Given the description of an element on the screen output the (x, y) to click on. 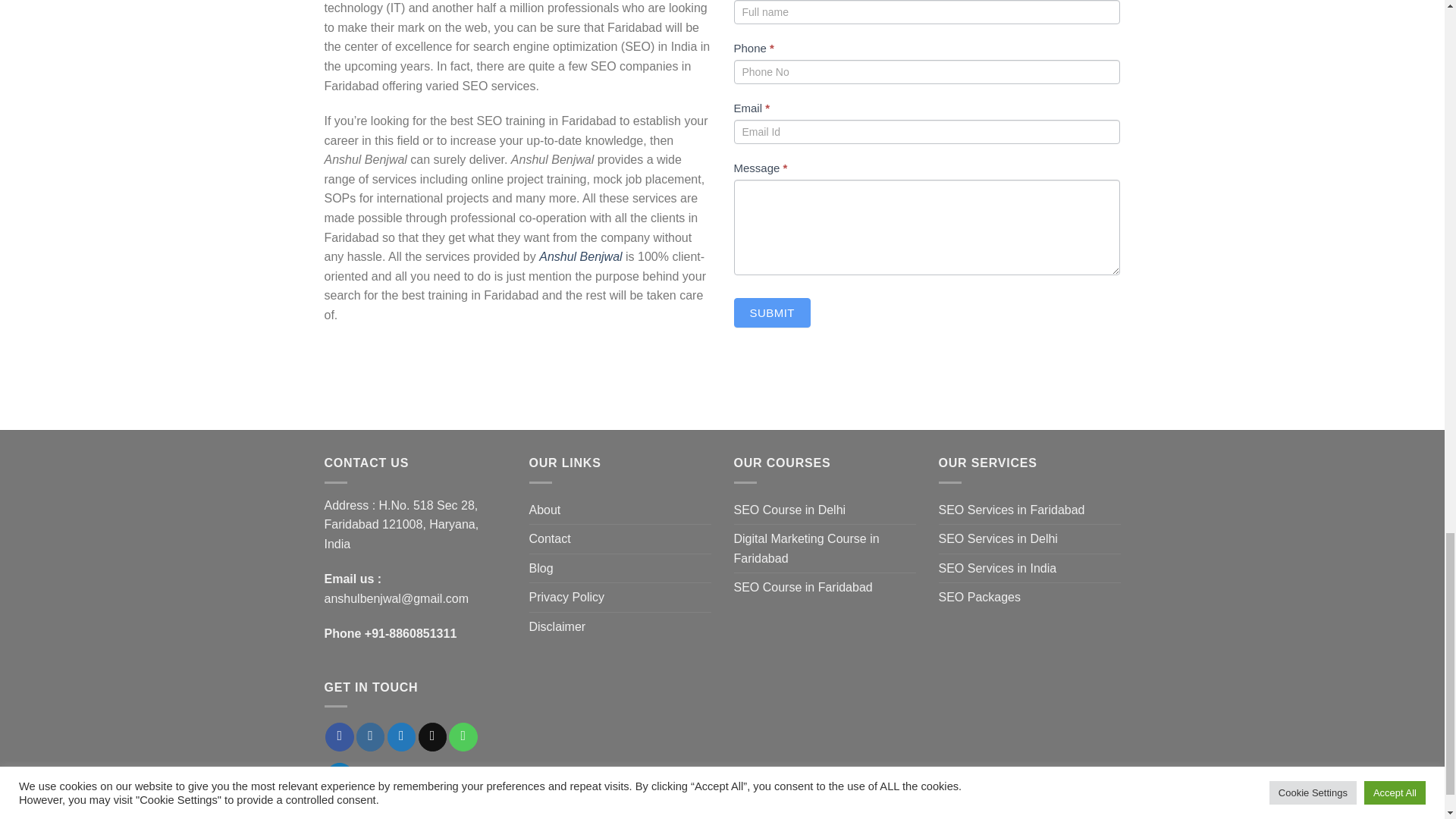
SUBMIT (771, 312)
Anshul Benjwal (579, 256)
About (544, 510)
Contact (549, 538)
